Given the description of an element on the screen output the (x, y) to click on. 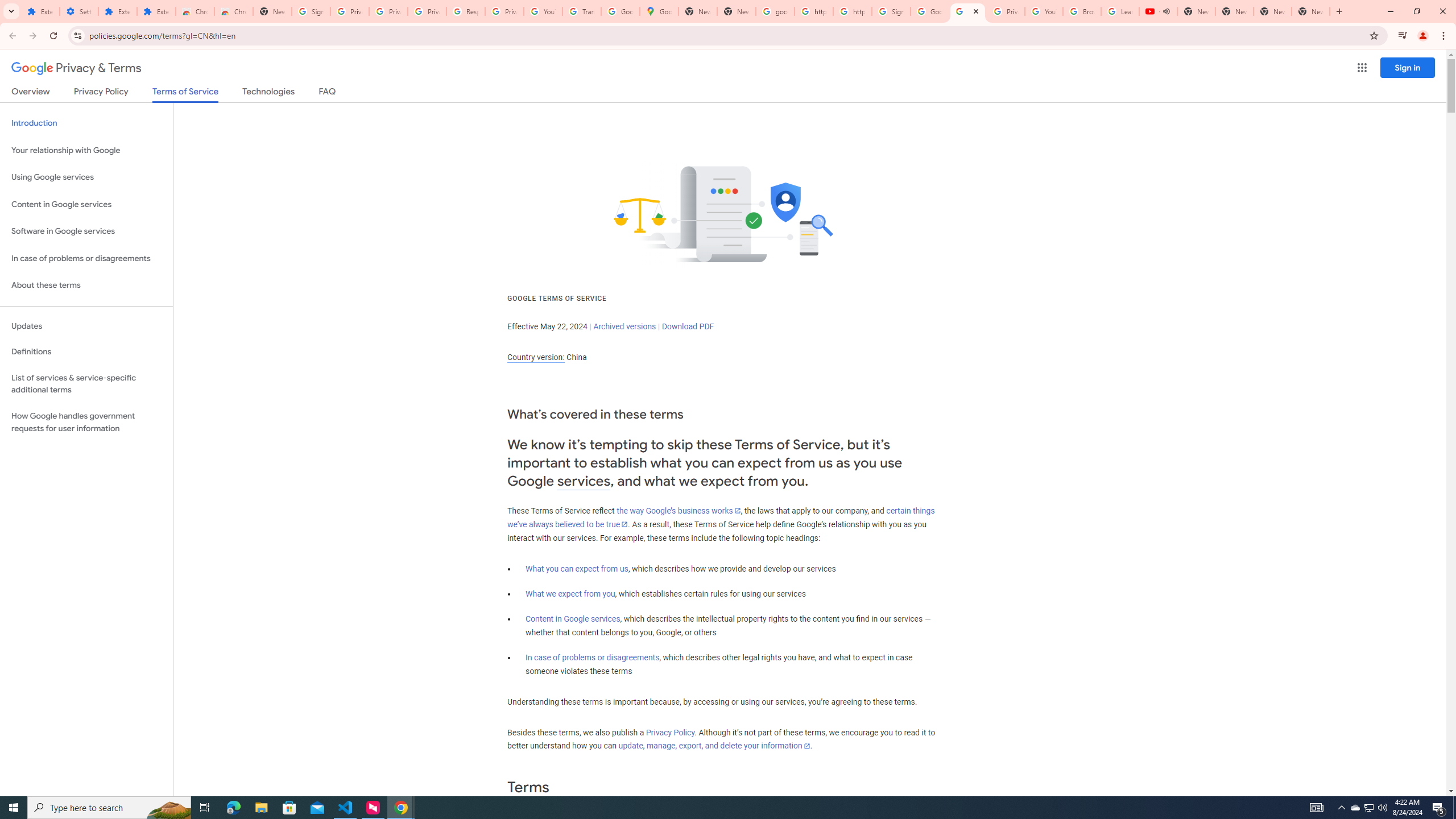
Definitions (86, 352)
services (583, 480)
YouTube (542, 11)
update, manage, export, and delete your information (714, 746)
Chrome Web Store (194, 11)
